Given the description of an element on the screen output the (x, y) to click on. 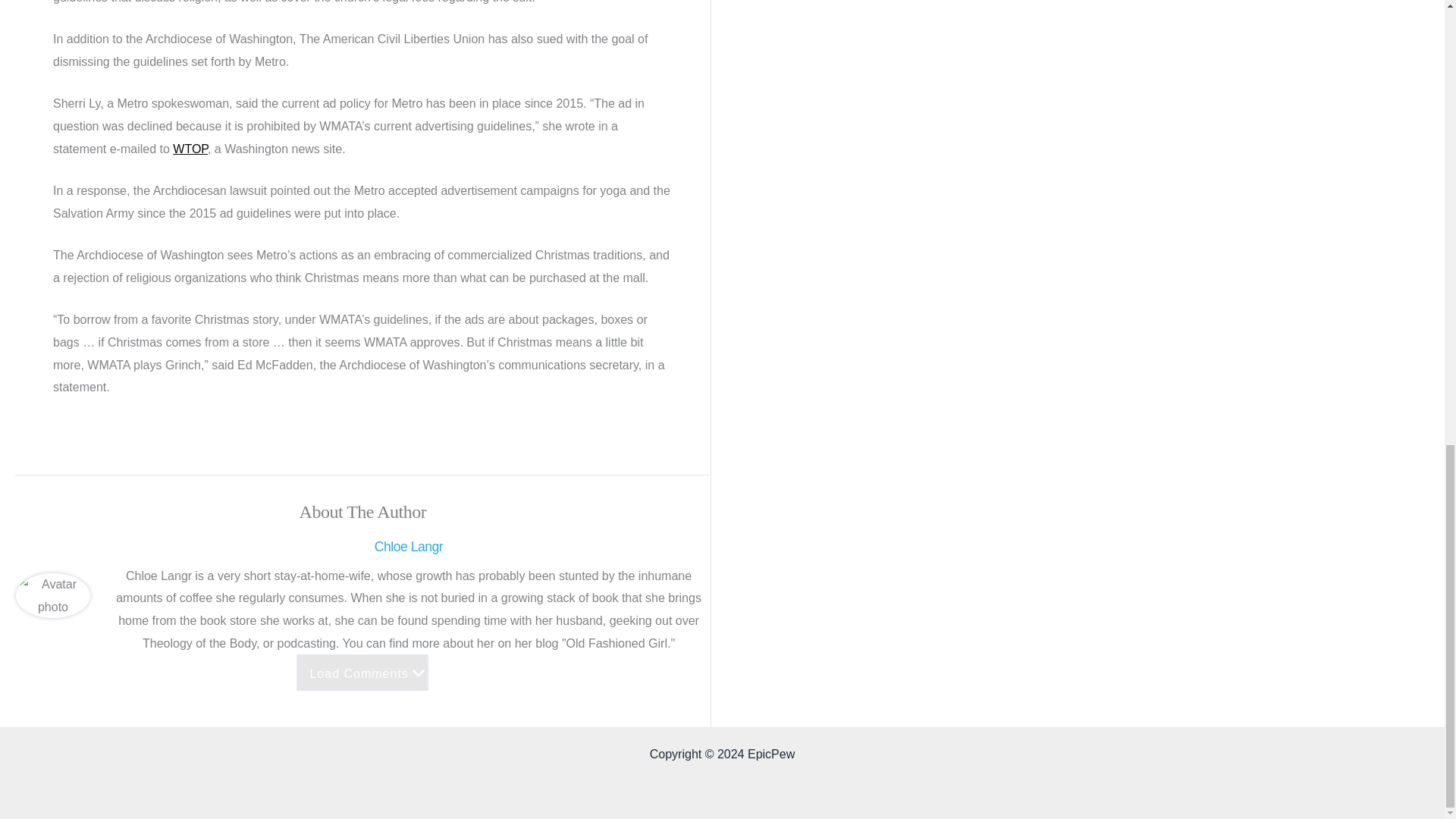
WTOP (190, 148)
Load Comments (362, 672)
Chloe Langr (408, 546)
